Given the description of an element on the screen output the (x, y) to click on. 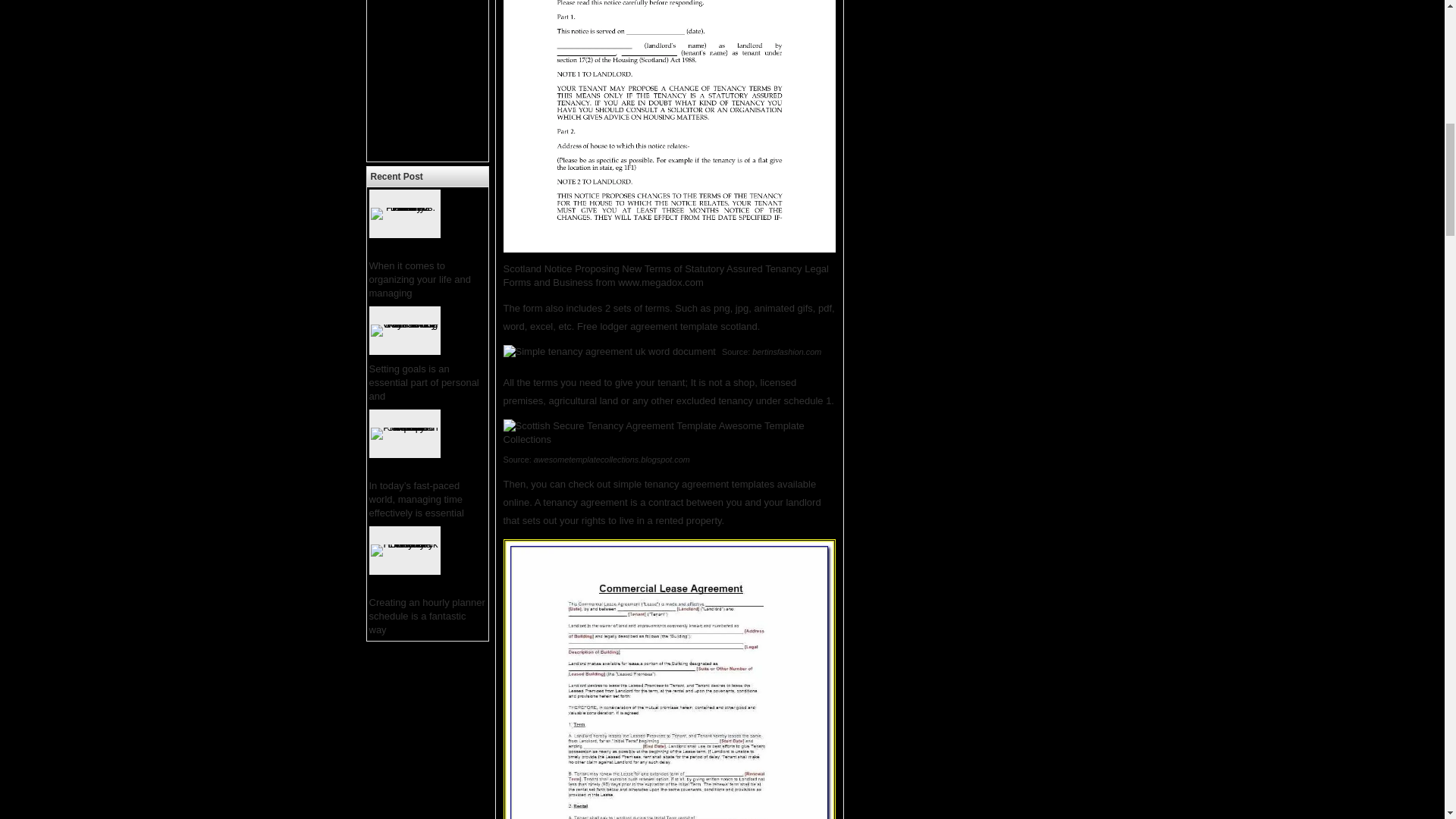
Hourly Planner vs. Daily Planner: Which Is Better for You? (403, 206)
Hourly Planner Vs. Daily Planner: W (424, 223)
How An Hourly Planner Can Help Redu (425, 443)
